Given the description of an element on the screen output the (x, y) to click on. 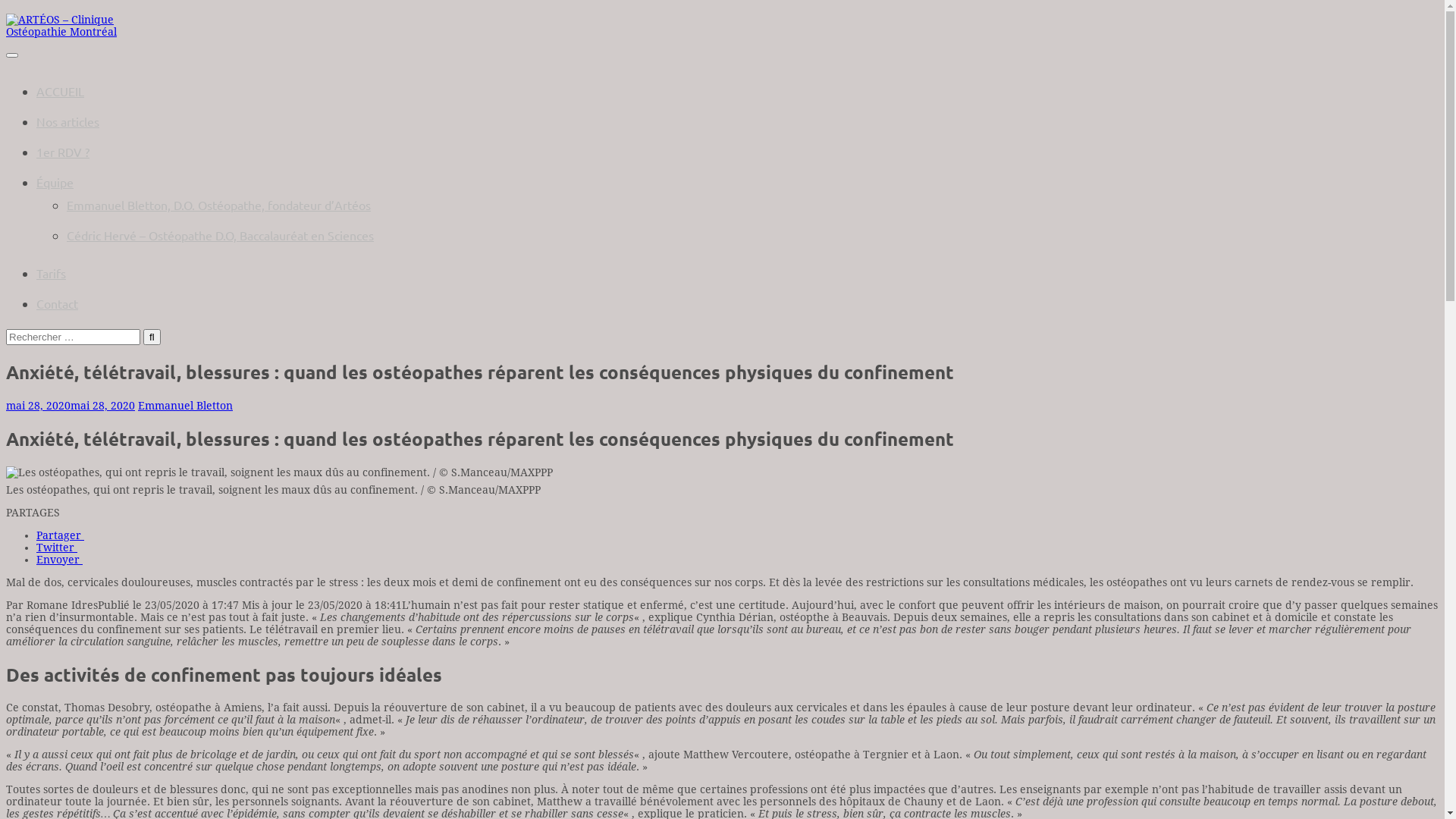
Tarifs Element type: text (50, 272)
Emmanuel Bletton Element type: text (185, 405)
Partager  Element type: text (60, 535)
mai 28, 2020mai 28, 2020 Element type: text (70, 405)
Nos articles Element type: text (67, 120)
Twitter  Element type: text (56, 547)
Envoyer  Element type: text (59, 559)
ACCUEIL Element type: text (60, 90)
Contact Element type: text (57, 302)
1er RDV ? Element type: text (62, 151)
Aller au contenu principal Element type: text (5, 5)
